Given the description of an element on the screen output the (x, y) to click on. 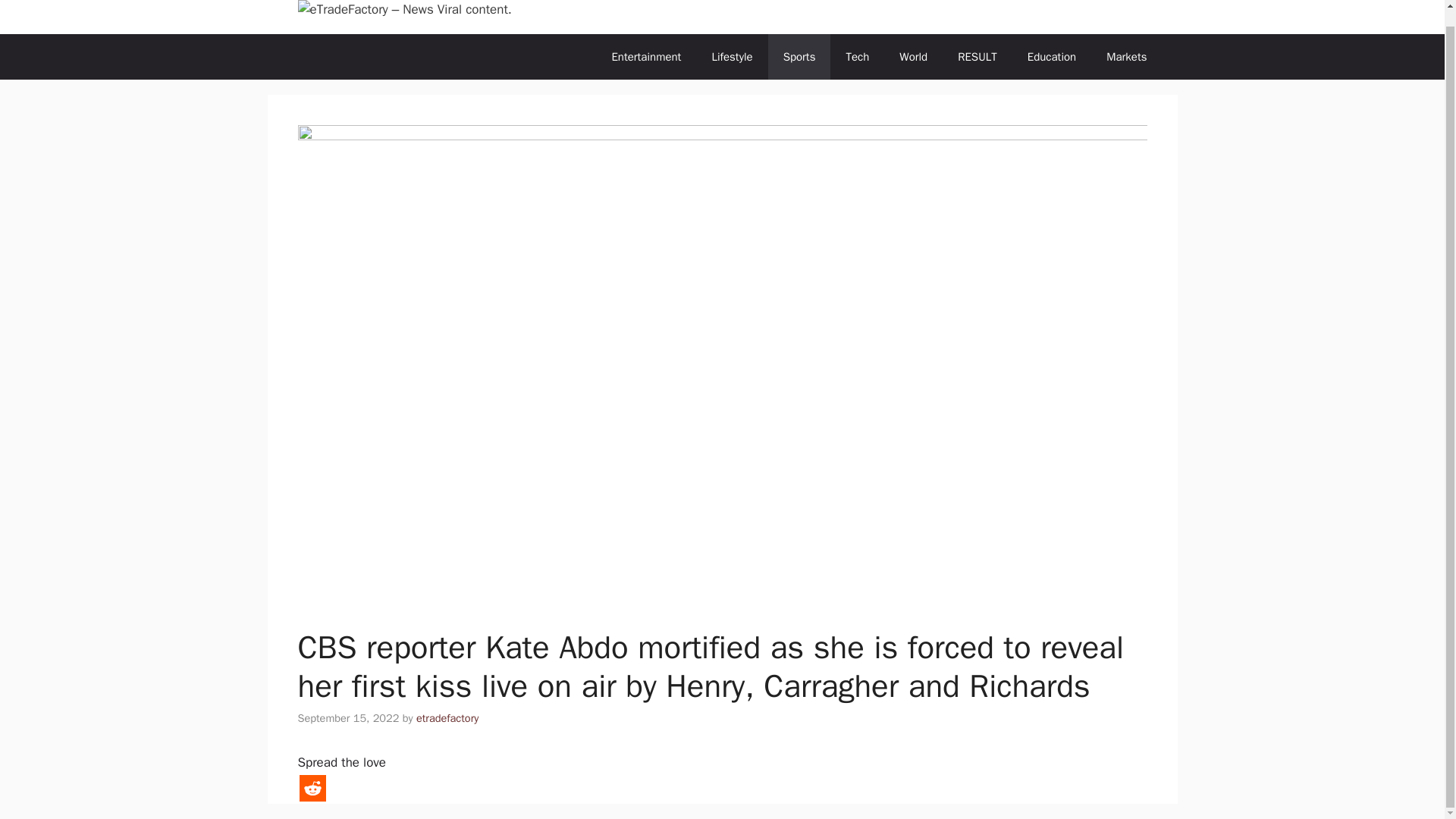
Markets (1125, 56)
Reddit (311, 787)
Lifestyle (731, 56)
World (912, 56)
Education (1050, 56)
Tech (856, 56)
etradefactory (447, 717)
View all posts by etradefactory (447, 717)
RESULT (976, 56)
Entertainment (645, 56)
